Given the description of an element on the screen output the (x, y) to click on. 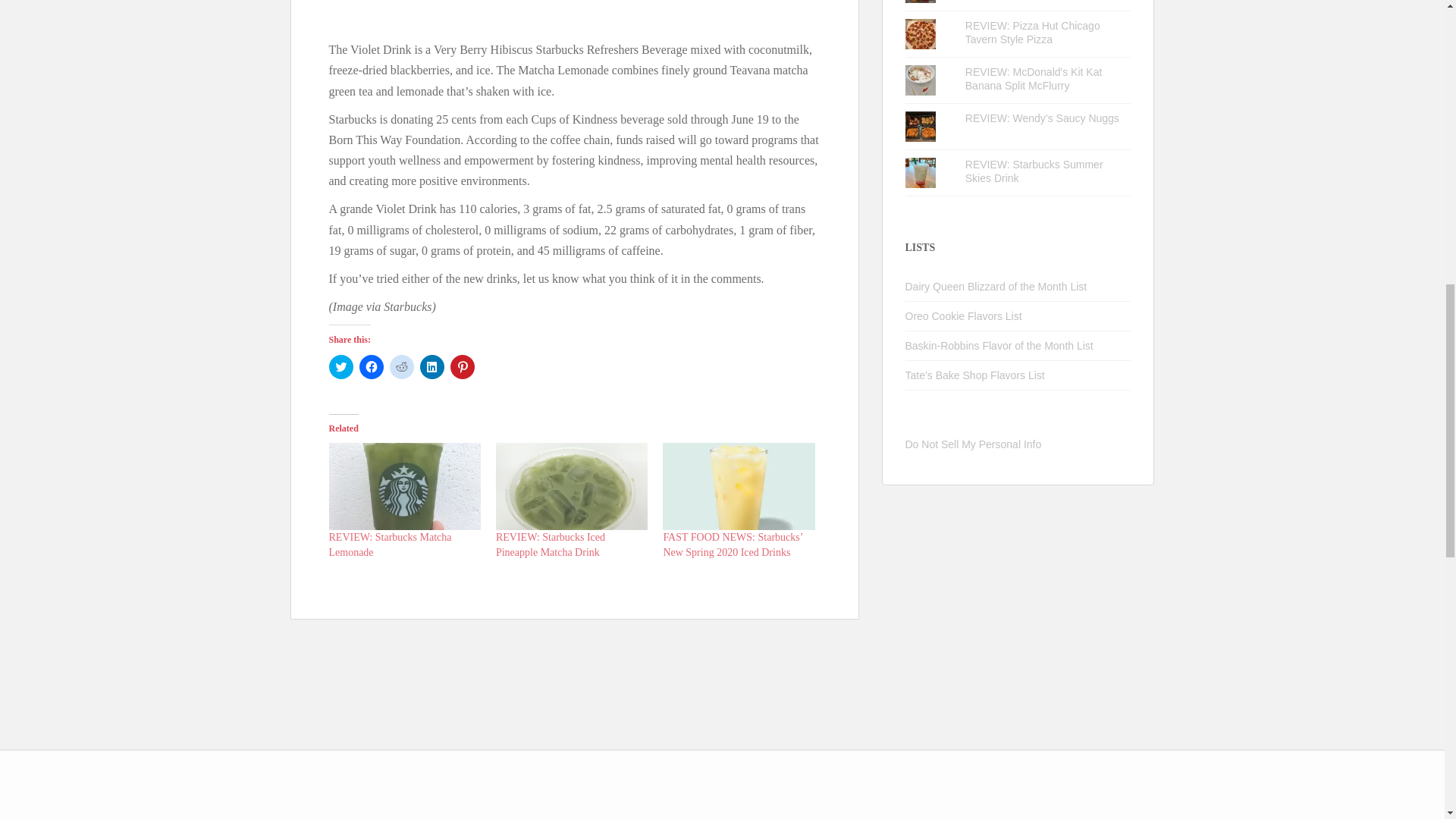
REVIEW: Starbucks Matcha Lemonade (404, 486)
REVIEW: Starbucks Matcha Lemonade (390, 543)
REVIEW: Starbucks Matcha Lemonade (390, 543)
Click to share on Reddit (401, 366)
REVIEW: Starbucks Iced Pineapple Matcha Drink (571, 486)
Click to share on Facebook (371, 366)
Click to share on LinkedIn (432, 366)
Click to share on Twitter (341, 366)
REVIEW: Starbucks Iced Pineapple Matcha Drink (550, 543)
Click to share on Pinterest (461, 366)
REVIEW: Starbucks Iced Pineapple Matcha Drink (550, 543)
